Given the description of an element on the screen output the (x, y) to click on. 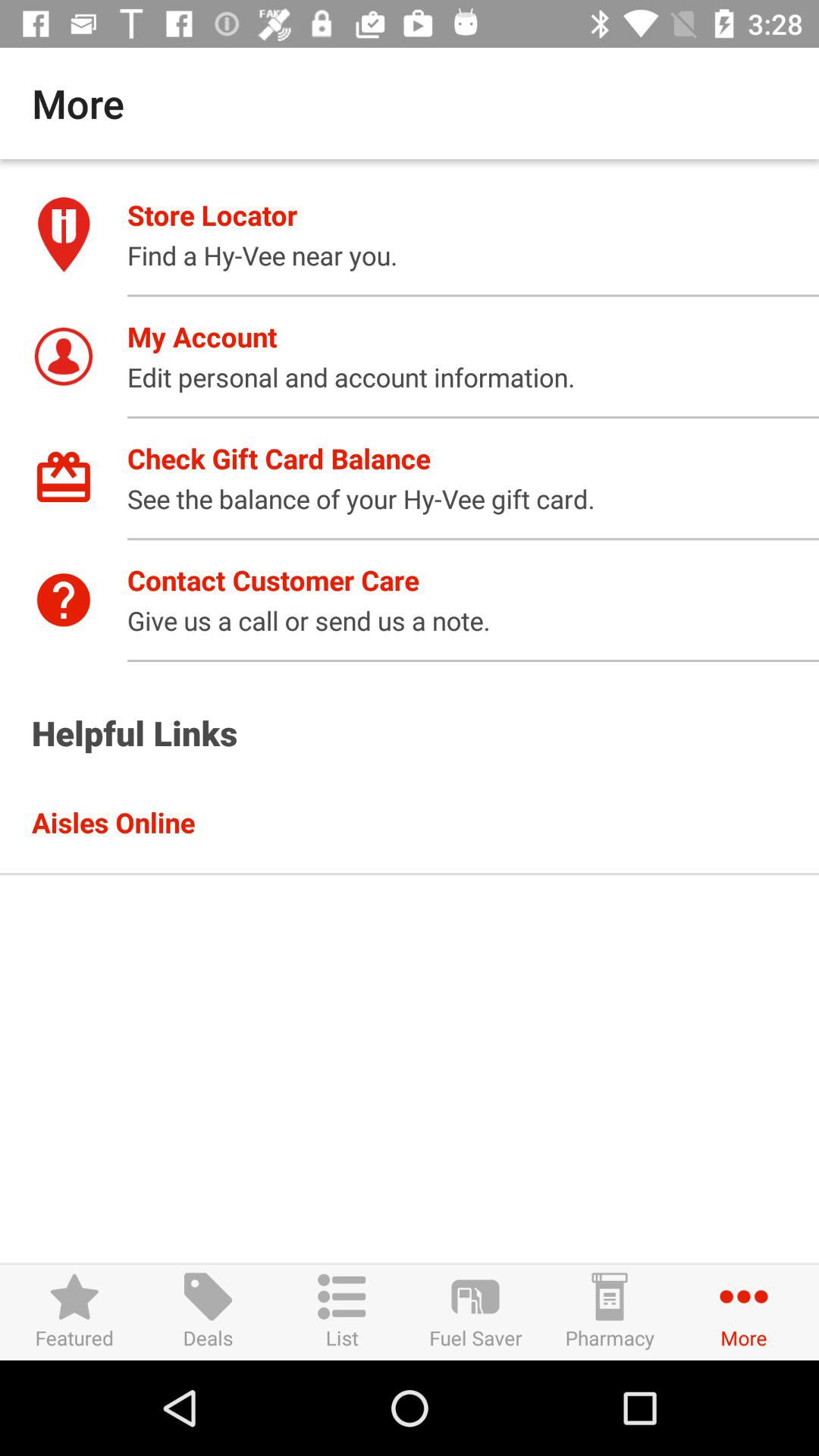
choose item to the left of list (208, 1311)
